Given the description of an element on the screen output the (x, y) to click on. 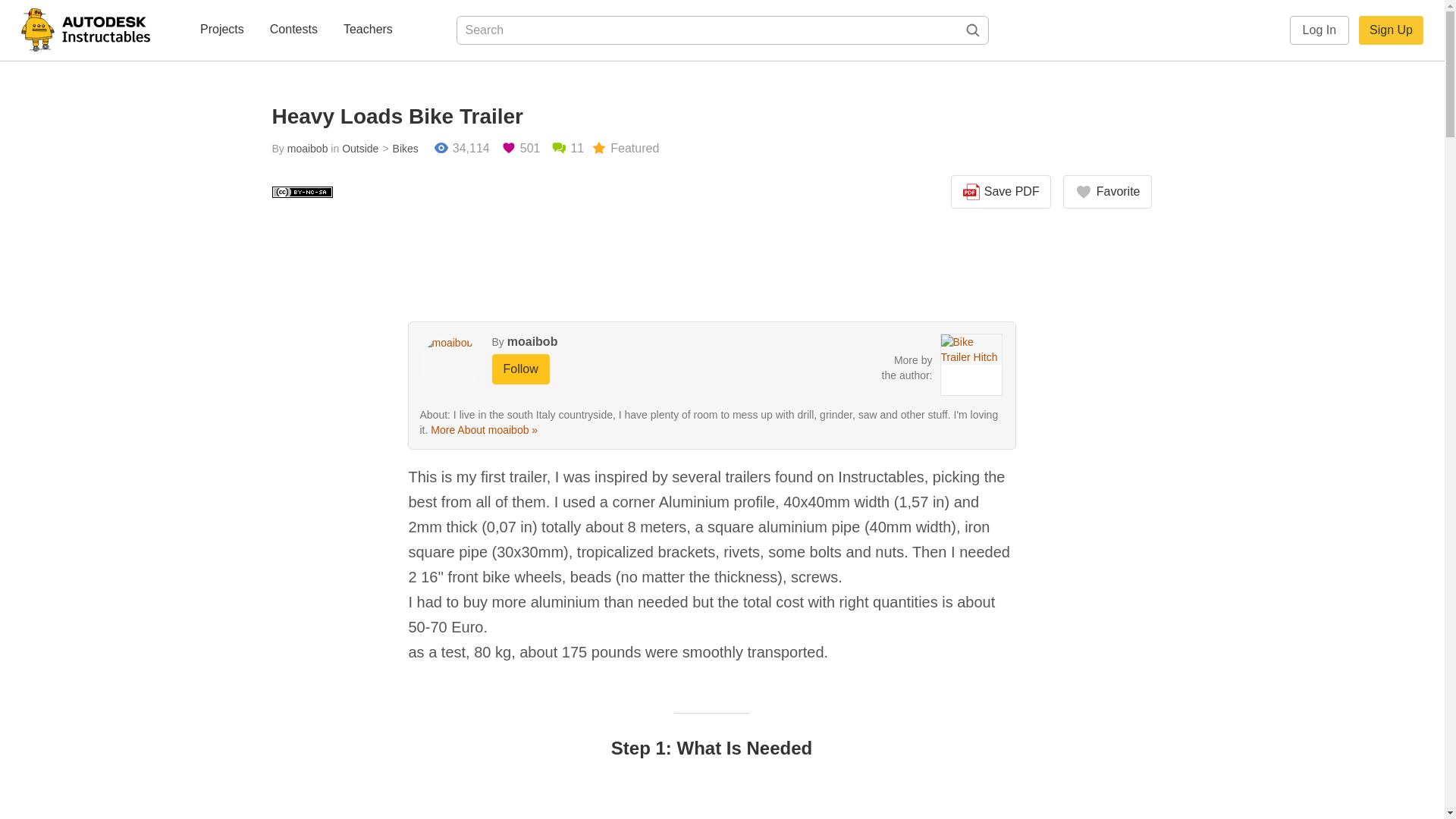
Outside (360, 148)
Save PDF (1000, 191)
Follow (520, 368)
Sign Up (1390, 30)
11 (567, 148)
Contests (293, 30)
Teachers (368, 30)
moaibob (531, 341)
moaibob (307, 148)
Bikes (397, 148)
Projects (221, 30)
Log In (1319, 30)
Favorite (1106, 191)
